Given the description of an element on the screen output the (x, y) to click on. 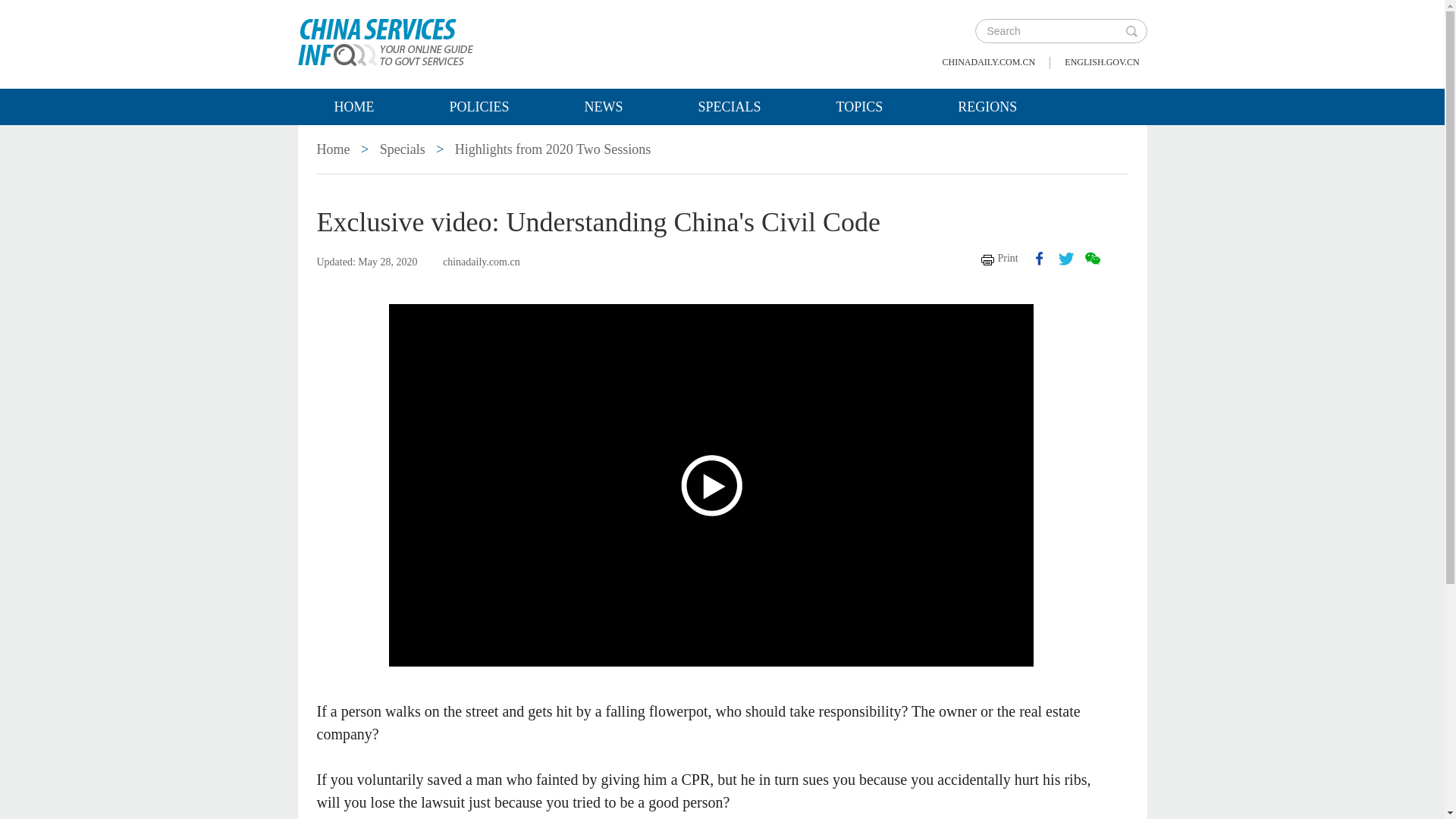
chinadaily.com.cn (988, 61)
NEWS (603, 106)
twitter (1066, 258)
Highlights from 2020 Two Sessions (552, 149)
Specials (729, 106)
ENGLISH.GOV.CN (1101, 61)
News (603, 106)
CHINADAILY.COM.CN (988, 61)
Specials (402, 149)
Print (999, 258)
